Given the description of an element on the screen output the (x, y) to click on. 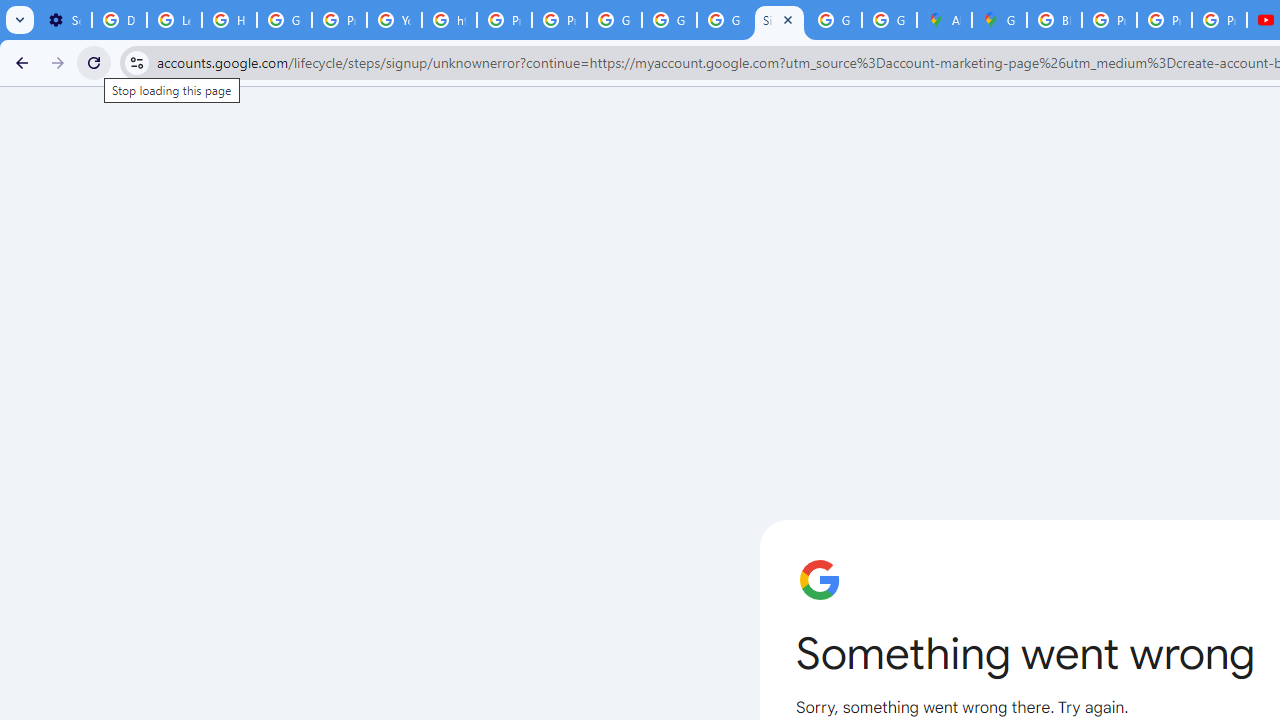
Settings - Customize profile (64, 20)
Google Maps (998, 20)
YouTube (394, 20)
Delete photos & videos - Computer - Google Photos Help (119, 20)
Privacy Help Center - Policies Help (1163, 20)
Privacy Help Center - Policies Help (504, 20)
